Given the description of an element on the screen output the (x, y) to click on. 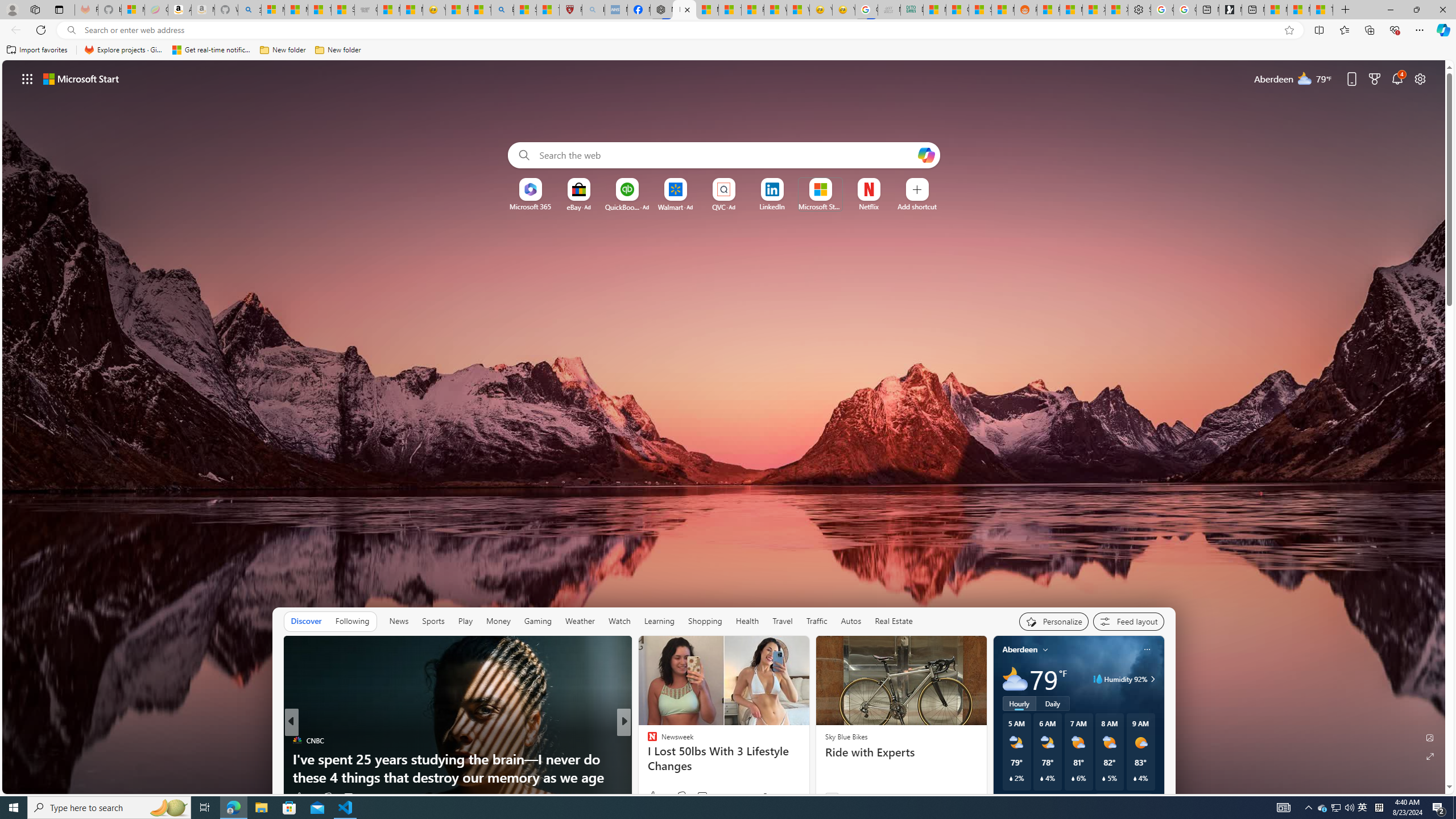
Edit Background (1430, 737)
You're following Newsweek (780, 795)
